Given the description of an element on the screen output the (x, y) to click on. 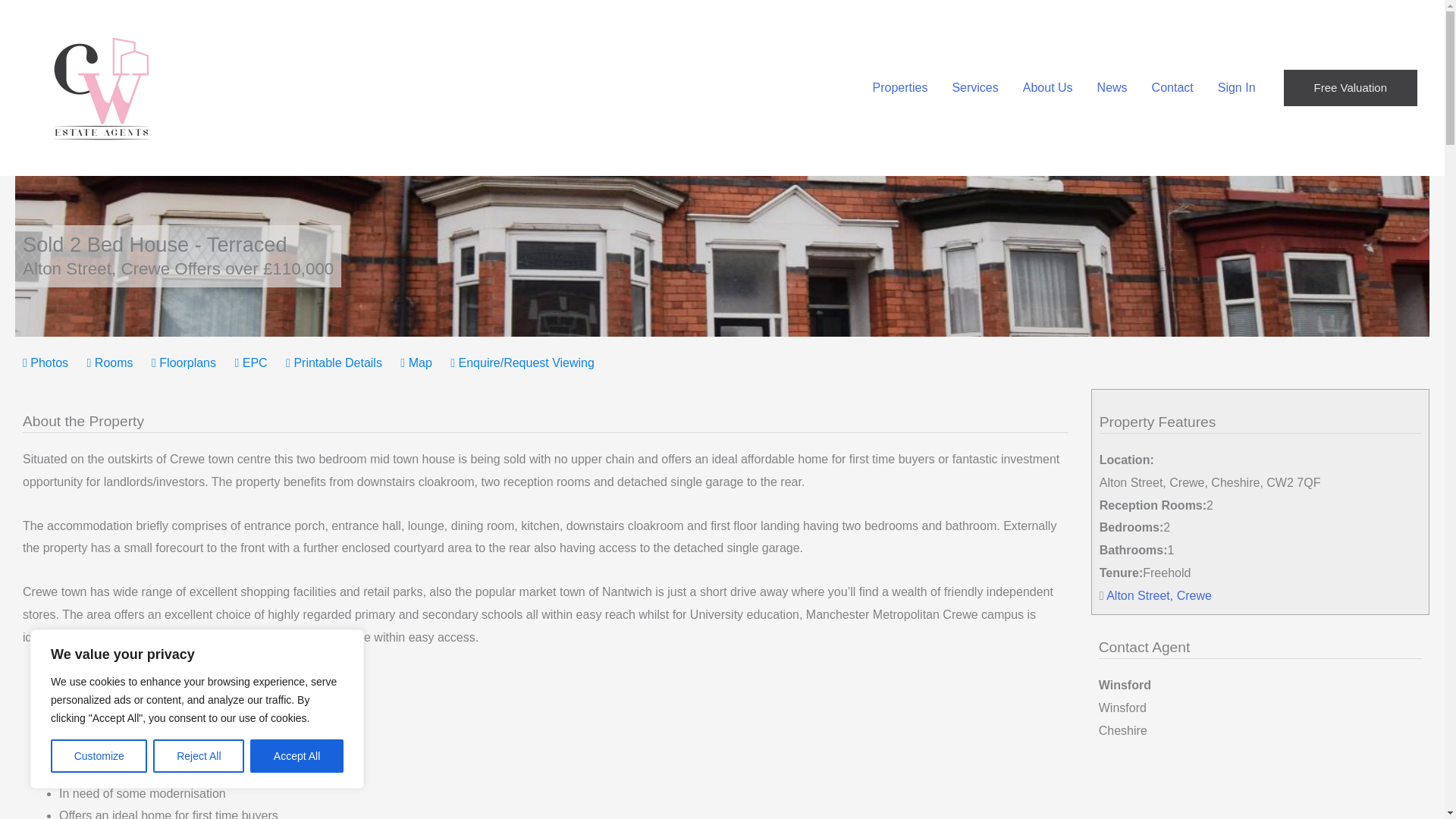
Properties (899, 87)
Photos (45, 362)
Printable Details (333, 362)
EPC (250, 362)
Rooms (110, 362)
Accept All (296, 756)
Map (415, 362)
Floorplans (183, 362)
Rooms (110, 362)
EPCs (250, 362)
Free Valuation (1350, 87)
Photos (45, 362)
Sign In (1236, 87)
Printable Details (333, 362)
Services (974, 87)
